Given the description of an element on the screen output the (x, y) to click on. 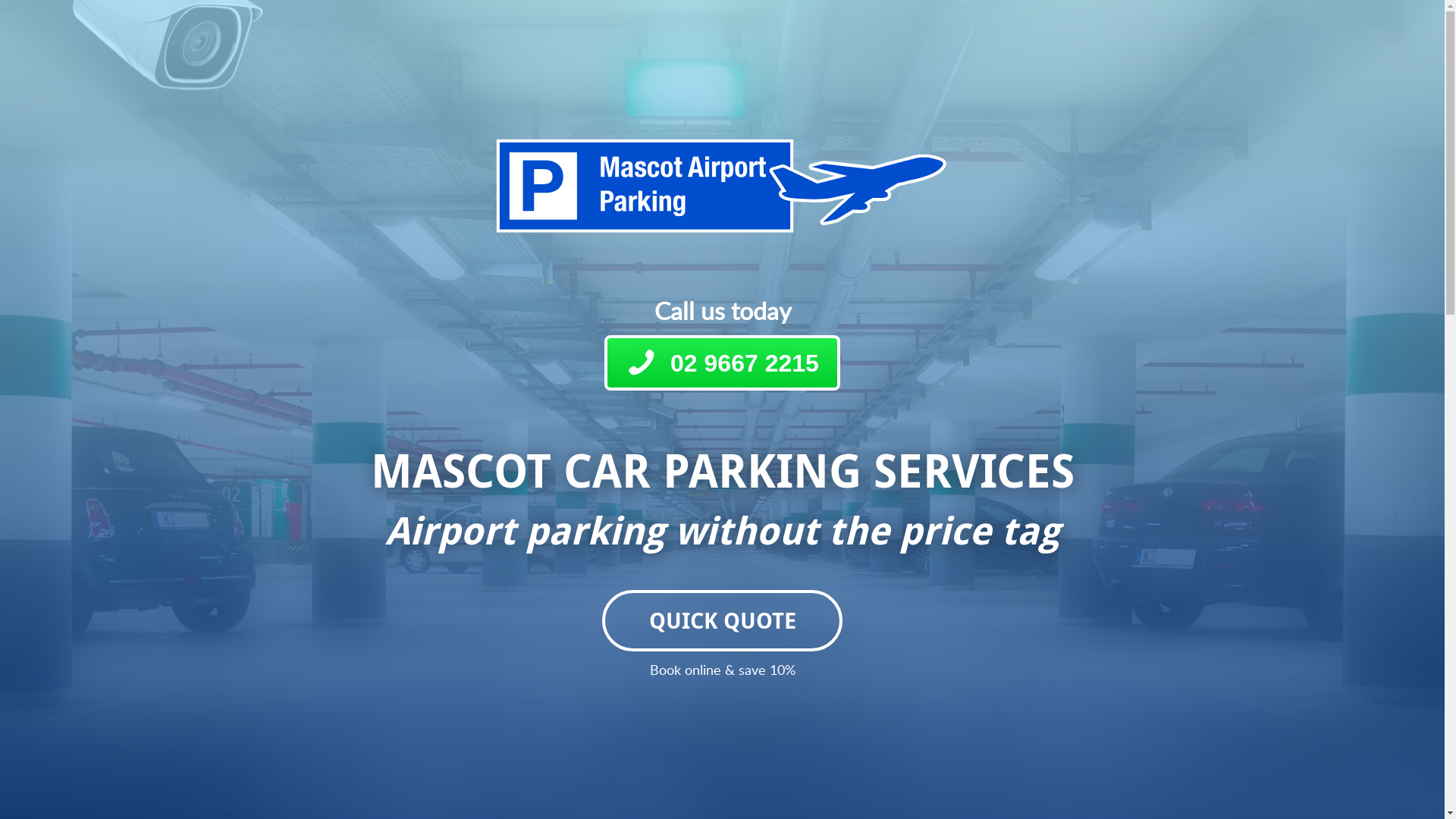
QUICK QUOTE Element type: text (722, 620)
02 9667 2215 Element type: text (722, 363)
